Given the description of an element on the screen output the (x, y) to click on. 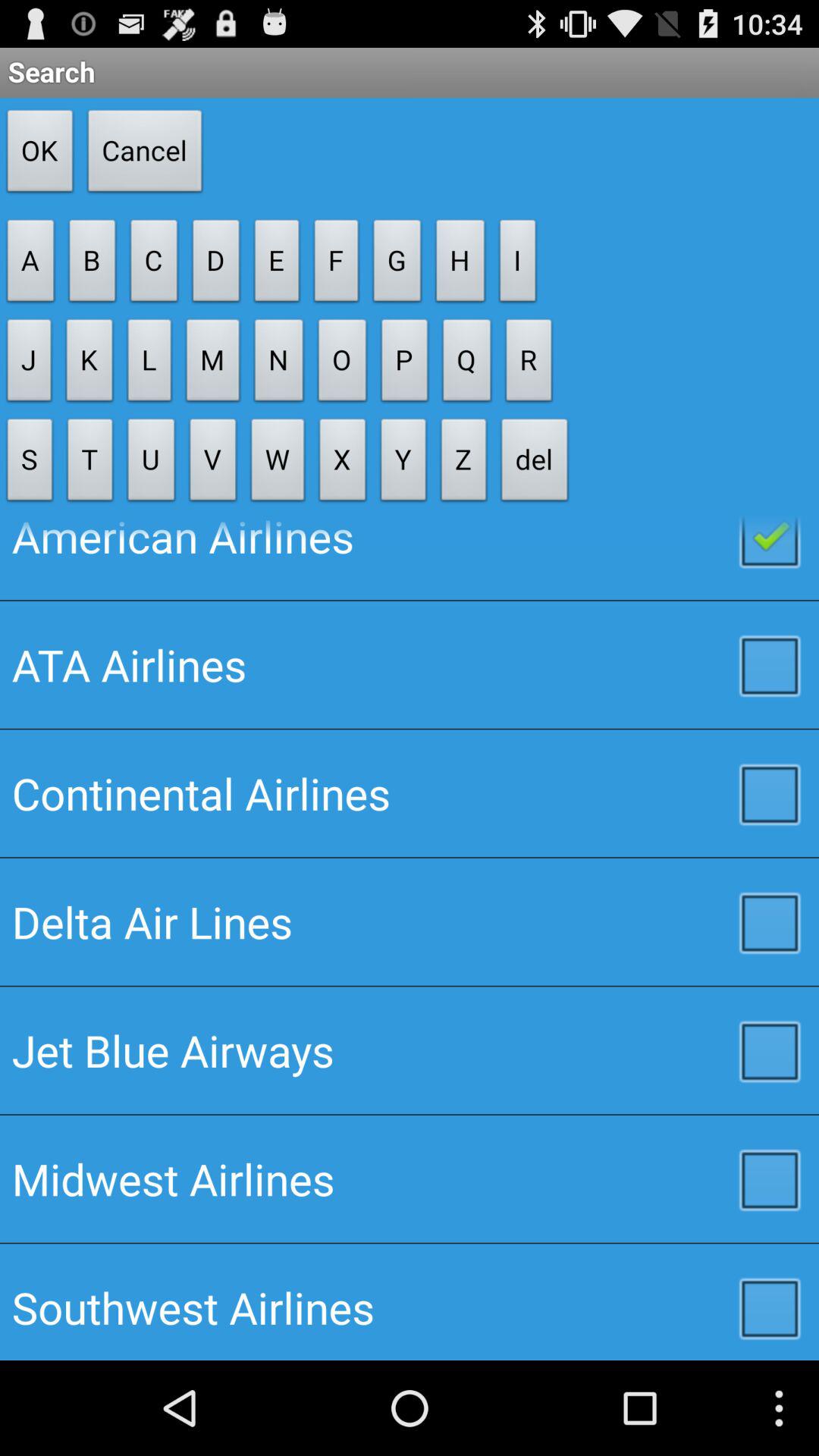
choose the item below midwest airlines item (409, 1301)
